Given the description of an element on the screen output the (x, y) to click on. 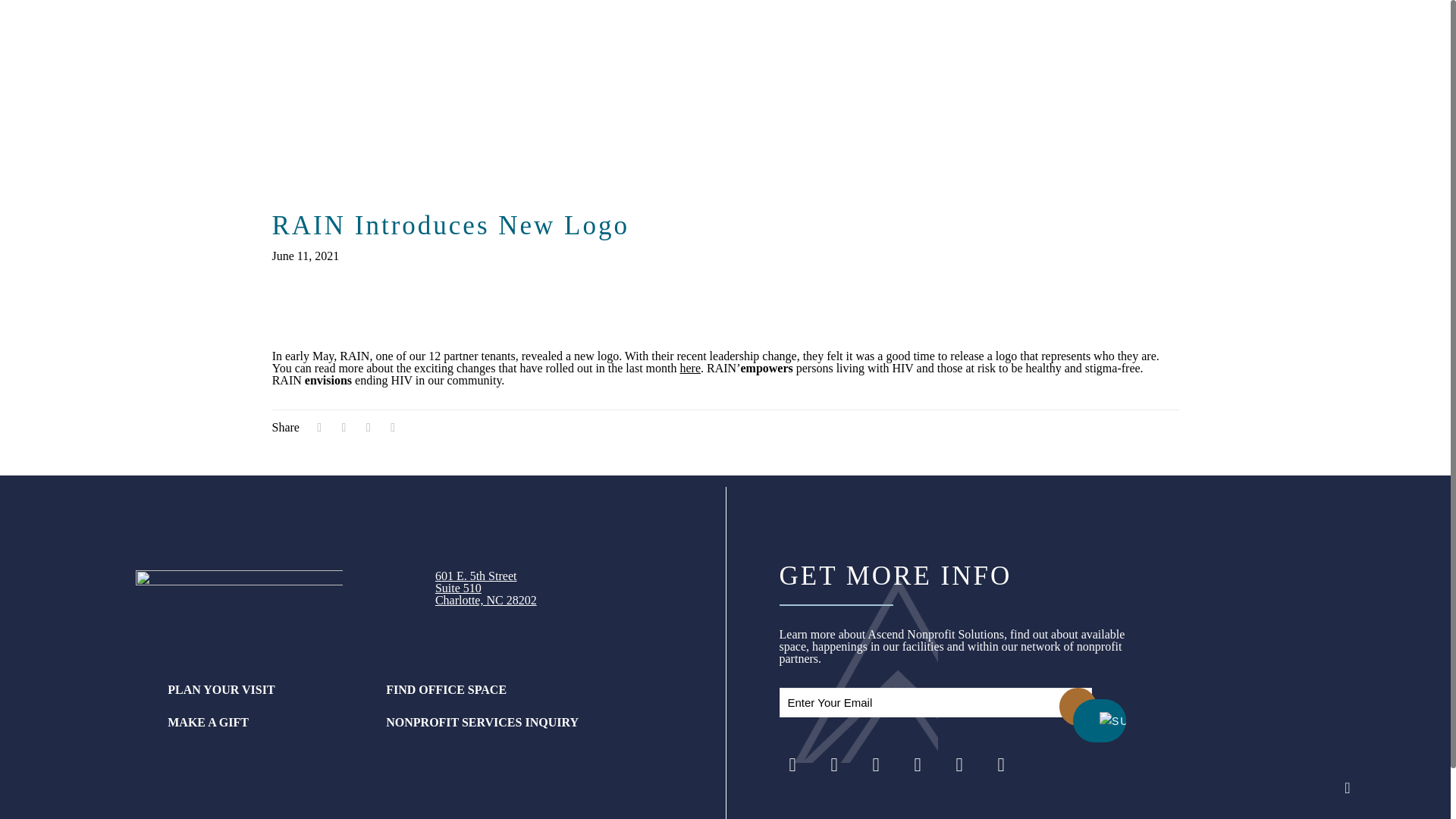
LinkedIn (876, 764)
Twitter (834, 764)
here (689, 367)
Facebook (486, 587)
Instagram (792, 764)
Instagram (917, 764)
Newsletter (959, 764)
PLAN YOUR VISIT (1000, 764)
